Given the description of an element on the screen output the (x, y) to click on. 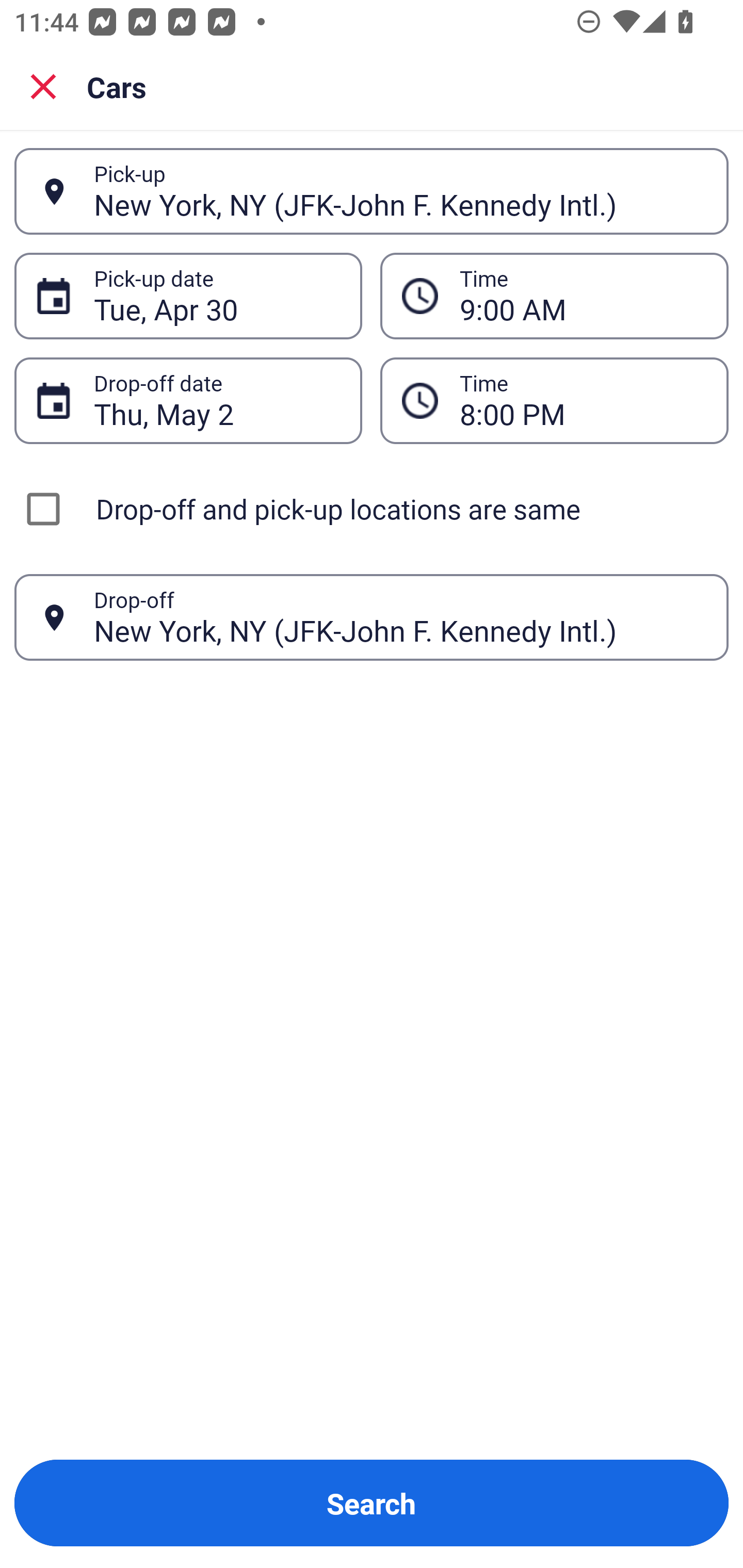
Close search screen (43, 86)
New York, NY (JFK-John F. Kennedy Intl.) Pick-up (371, 191)
New York, NY (JFK-John F. Kennedy Intl.) (399, 191)
Tue, Apr 30 Pick-up date (188, 295)
9:00 AM (554, 295)
Tue, Apr 30 (216, 296)
9:00 AM (582, 296)
Thu, May 2 Drop-off date (188, 400)
8:00 PM (554, 400)
Thu, May 2 (216, 400)
8:00 PM (582, 400)
Drop-off and pick-up locations are same (371, 508)
New York, NY (JFK-John F. Kennedy Intl.) Drop-off (371, 616)
New York, NY (JFK-John F. Kennedy Intl.) (399, 616)
Search Button Search (371, 1502)
